Given the description of an element on the screen output the (x, y) to click on. 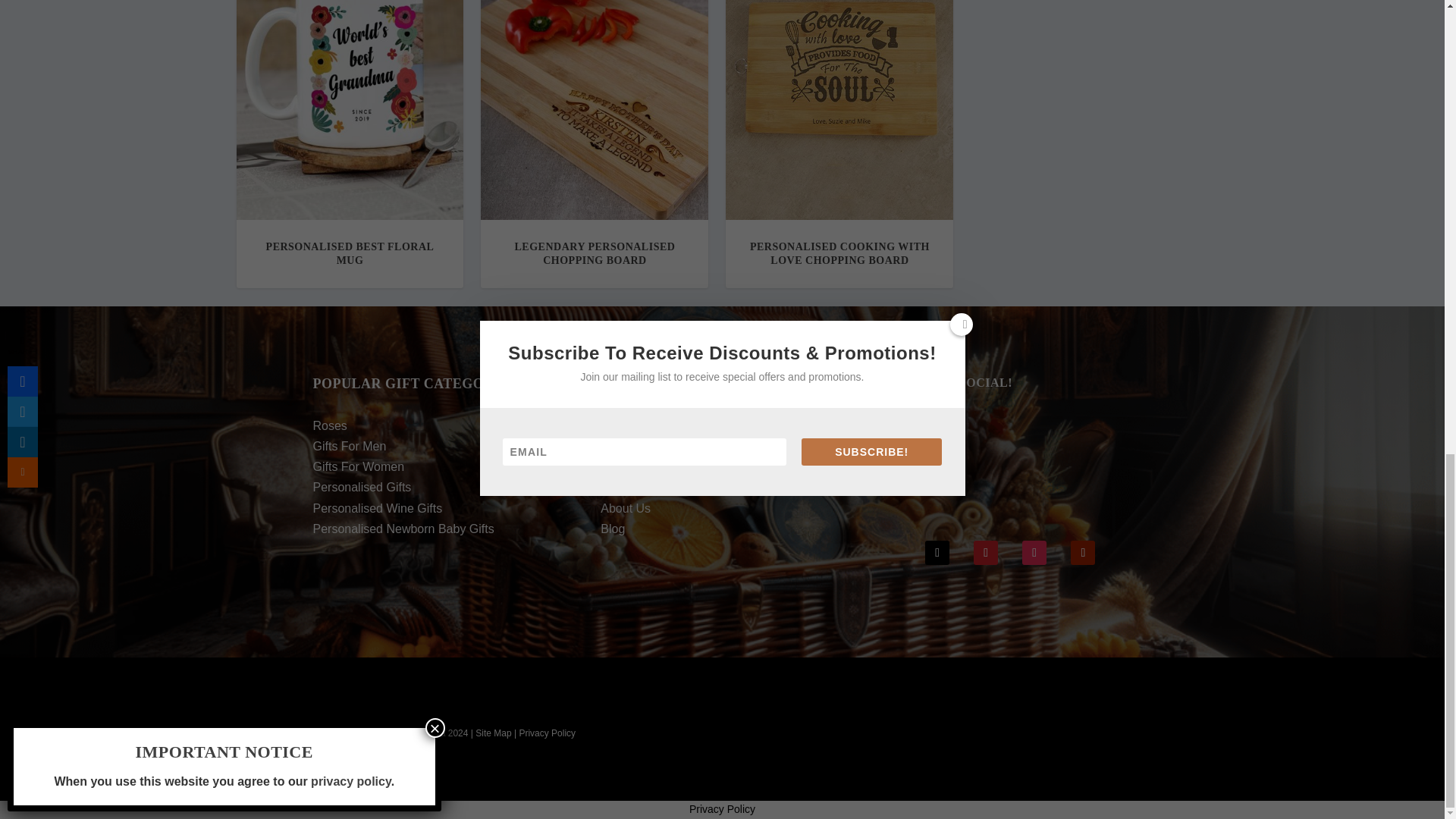
Follow on Instagram (1034, 552)
Follow on X (936, 552)
Follow on Pinterest (985, 552)
Follow on Youtube (1082, 552)
